Given the description of an element on the screen output the (x, y) to click on. 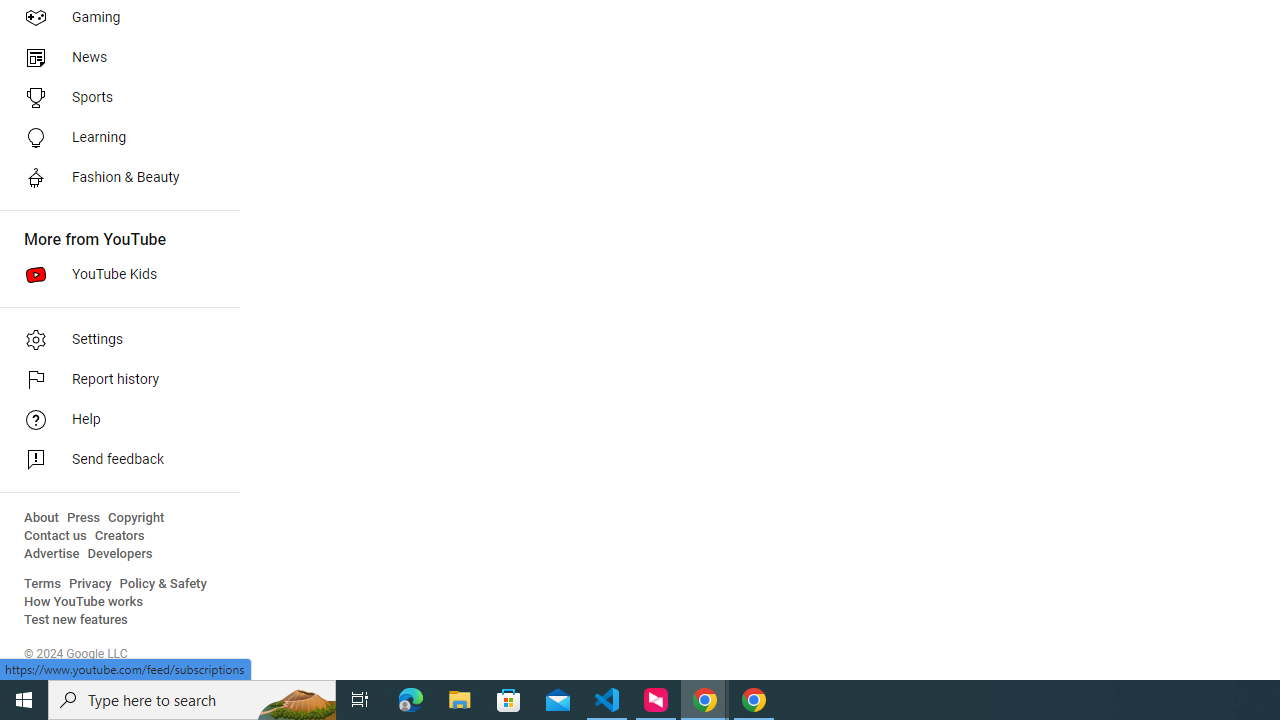
Advertise (51, 554)
Developers (120, 554)
Report history (113, 380)
How YouTube works (83, 602)
Learning (113, 137)
Creators (118, 536)
Copyright (136, 518)
Test new features (76, 620)
News (113, 57)
Policy & Safety (163, 584)
Send feedback (113, 459)
Fashion & Beauty (113, 177)
